Given the description of an element on the screen output the (x, y) to click on. 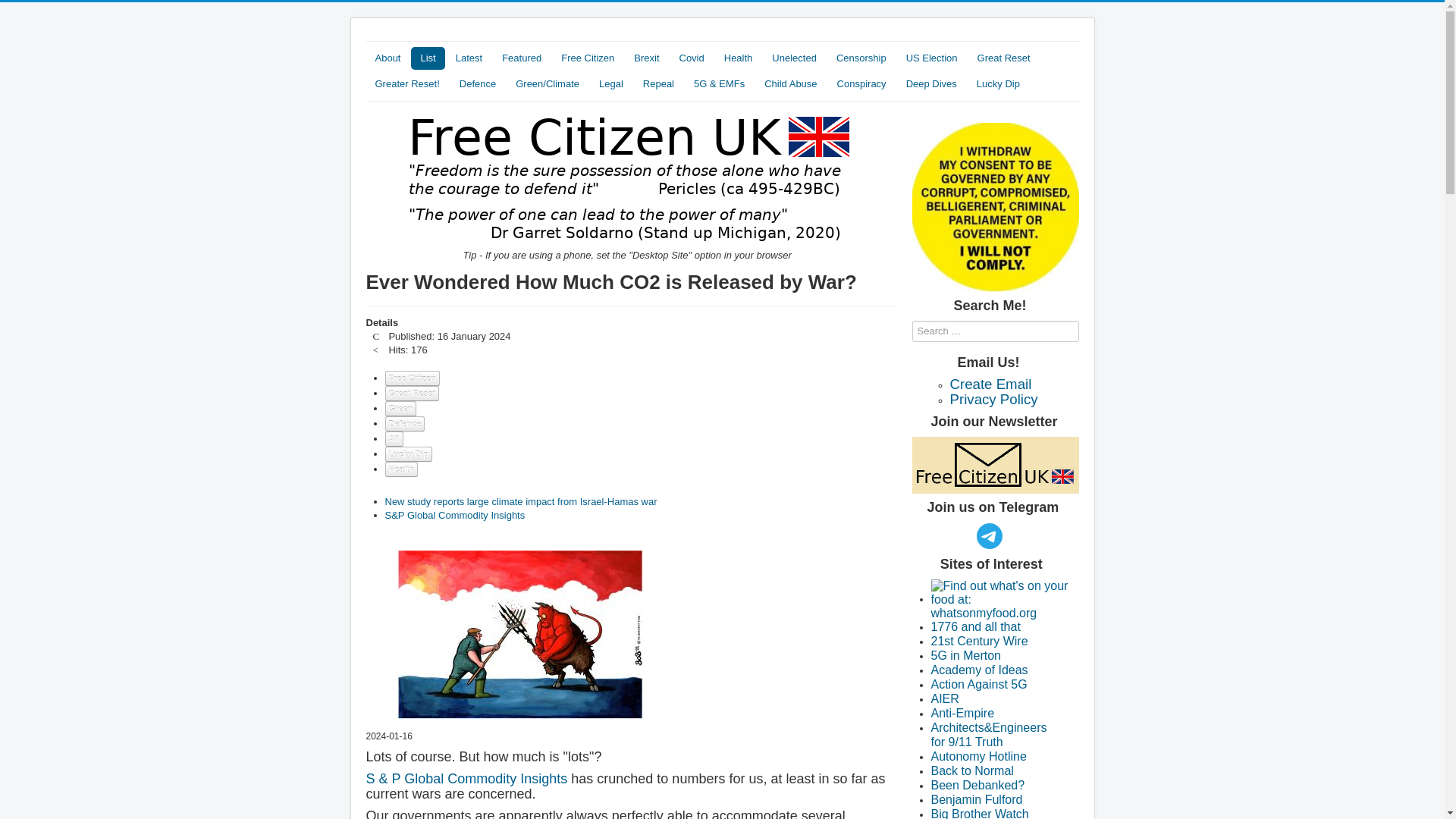
Covid (691, 57)
List (427, 57)
Greater Reset! (406, 83)
Brexit (646, 57)
Free Citizen (587, 57)
Latest (469, 57)
Great Reset (1003, 57)
Health (737, 57)
US Election (931, 57)
Featured (521, 57)
